Given the description of an element on the screen output the (x, y) to click on. 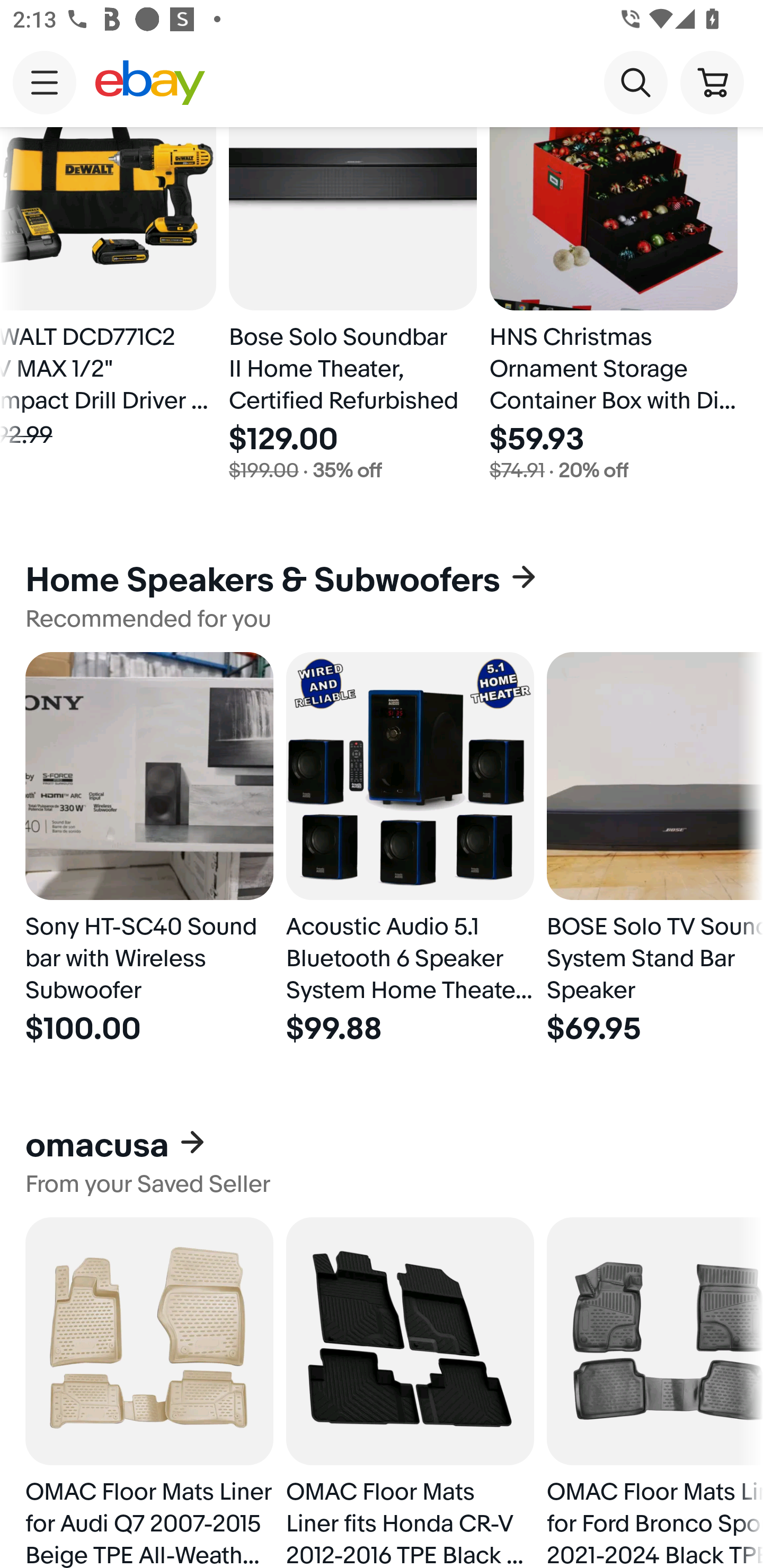
Main navigation, open (44, 82)
Search (635, 81)
Cart button shopping cart (711, 81)
Home Speakers & Subwoofers   Recommended for you (381, 596)
omacusa   From your Saved Seller (381, 1160)
